Given the description of an element on the screen output the (x, y) to click on. 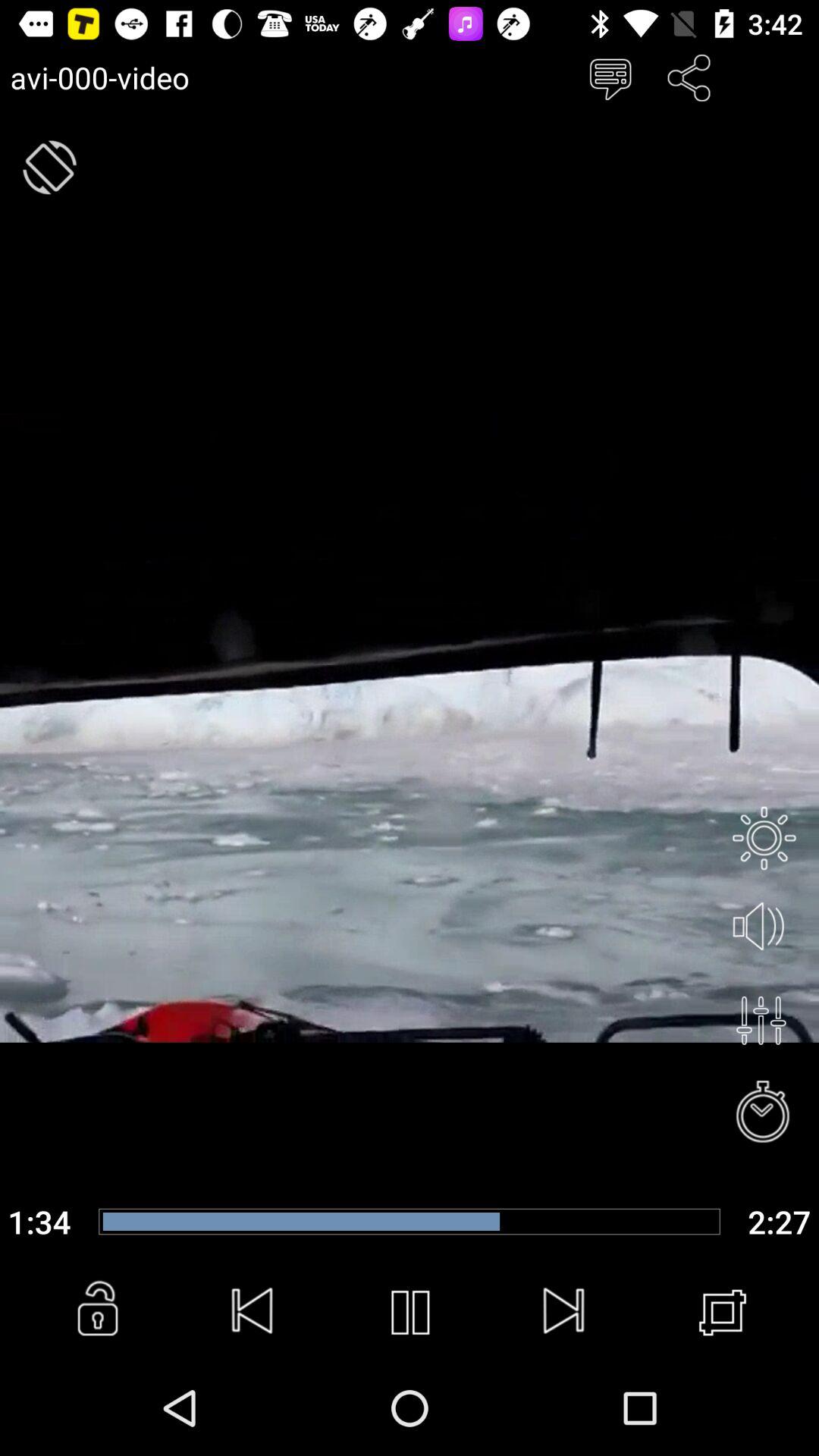
sound button (764, 927)
